Given the description of an element on the screen output the (x, y) to click on. 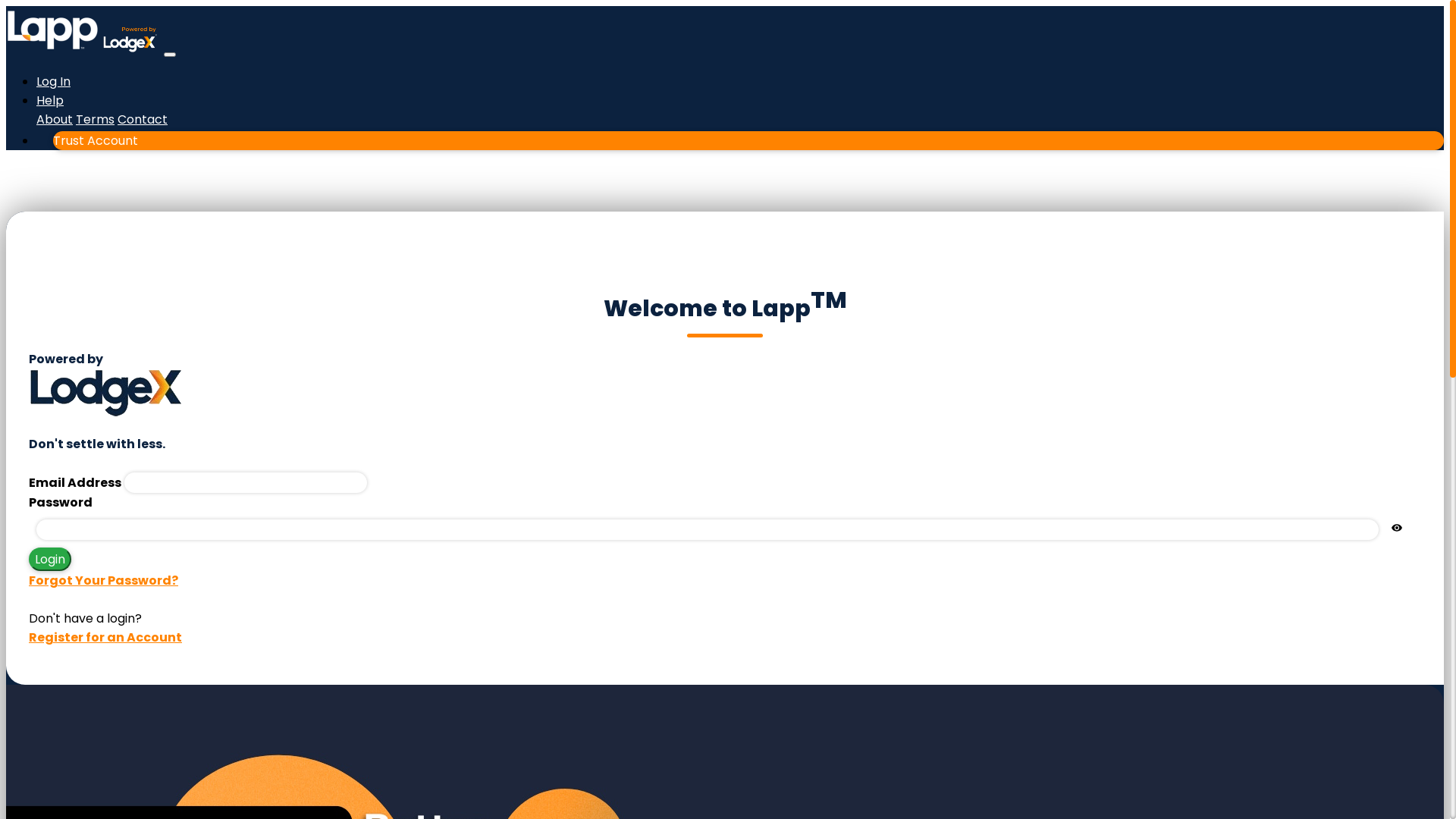
Login Element type: text (49, 559)
Forgot Your Password? Element type: text (103, 580)
About Element type: text (54, 119)
Register for an Account Element type: text (105, 637)
Terms Element type: text (94, 119)
Trust Account Element type: text (739, 139)
Help Element type: text (49, 100)
Contact Element type: text (142, 119)
Log In Element type: text (53, 81)
